Given the description of an element on the screen output the (x, y) to click on. 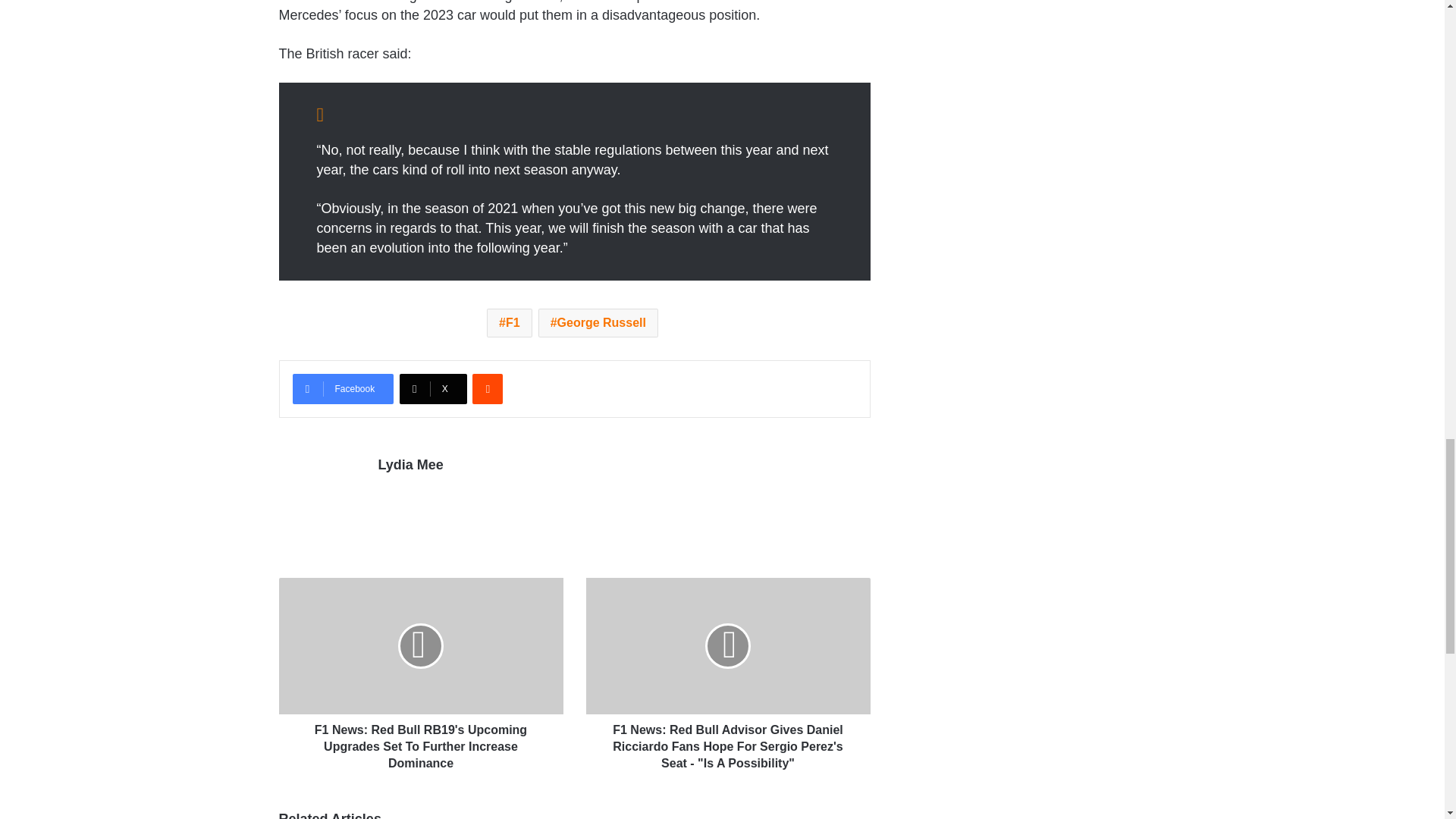
X (432, 388)
Reddit (486, 388)
Facebook (343, 388)
